Given the description of an element on the screen output the (x, y) to click on. 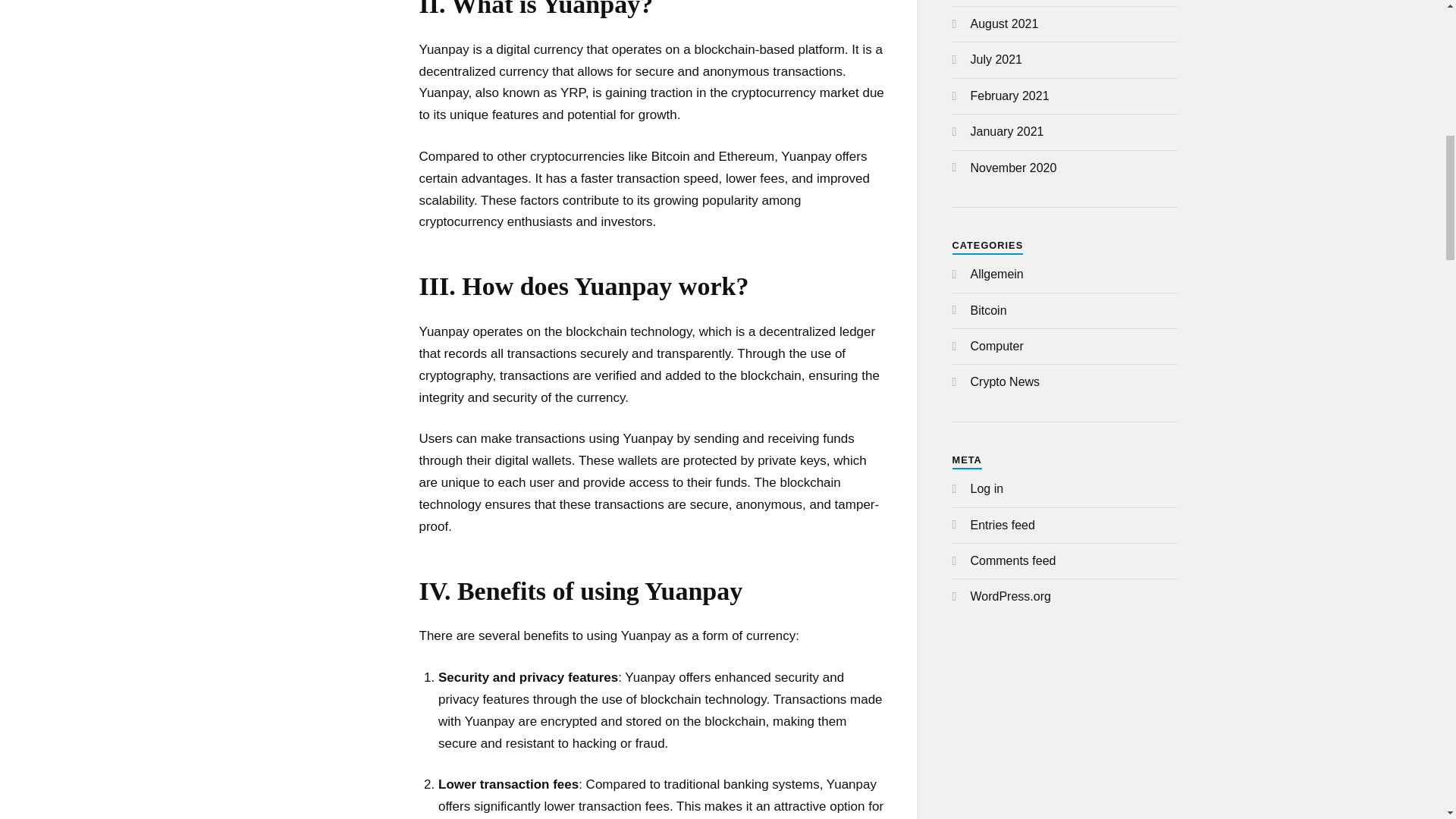
August 2021 (1005, 23)
Comments feed (1014, 560)
July 2021 (997, 59)
Computer (997, 345)
Entries feed (1003, 524)
Log in (987, 488)
Bitcoin (989, 309)
January 2021 (1007, 131)
November 2020 (1014, 167)
February 2021 (1010, 95)
Crypto News (1006, 381)
Allgemein (997, 273)
